Given the description of an element on the screen output the (x, y) to click on. 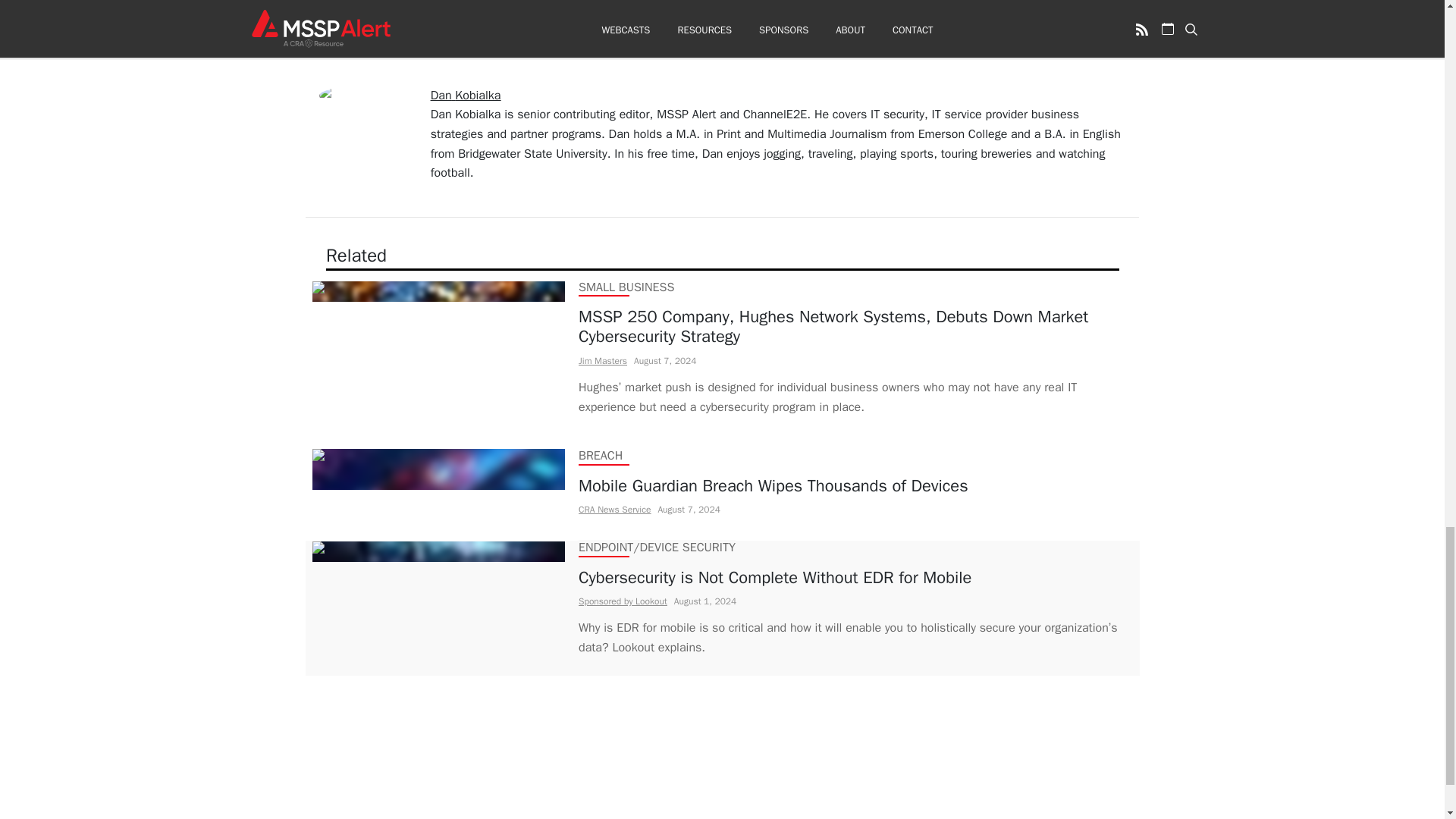
Mobile Guardian Breach Wipes Thousands of Devices (773, 485)
Sponsored by Lookout (622, 601)
SMALL BUSINESS (625, 287)
Jim Masters (602, 360)
BREACH (599, 455)
Cybersecurity is Not Complete Without EDR for Mobile (855, 577)
Dan Kobialka (465, 95)
CRA News Service (613, 509)
